Given the description of an element on the screen output the (x, y) to click on. 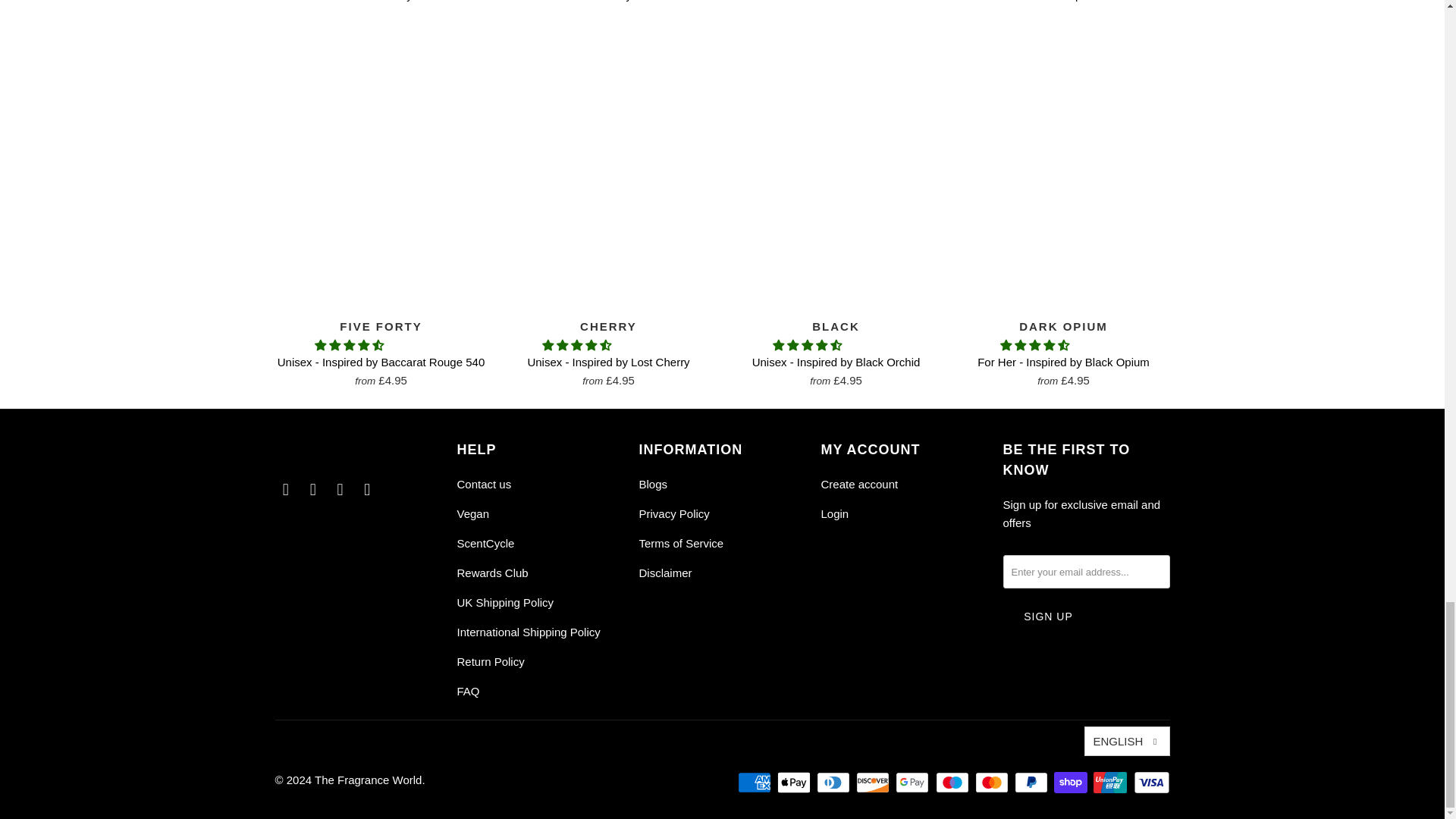
Email The Fragrance World (367, 489)
Google Pay (913, 782)
Shop Pay (1072, 782)
Mastercard (993, 782)
Sign Up (1048, 616)
Union Pay (1111, 782)
Discover (874, 782)
Apple Pay (795, 782)
Diners Club (834, 782)
The Fragrance World on LinkedIn (340, 489)
PayPal (1032, 782)
The Fragrance World on Facebook (286, 489)
American Express (756, 782)
The Fragrance World on Instagram (312, 489)
Visa (1150, 782)
